Given the description of an element on the screen output the (x, y) to click on. 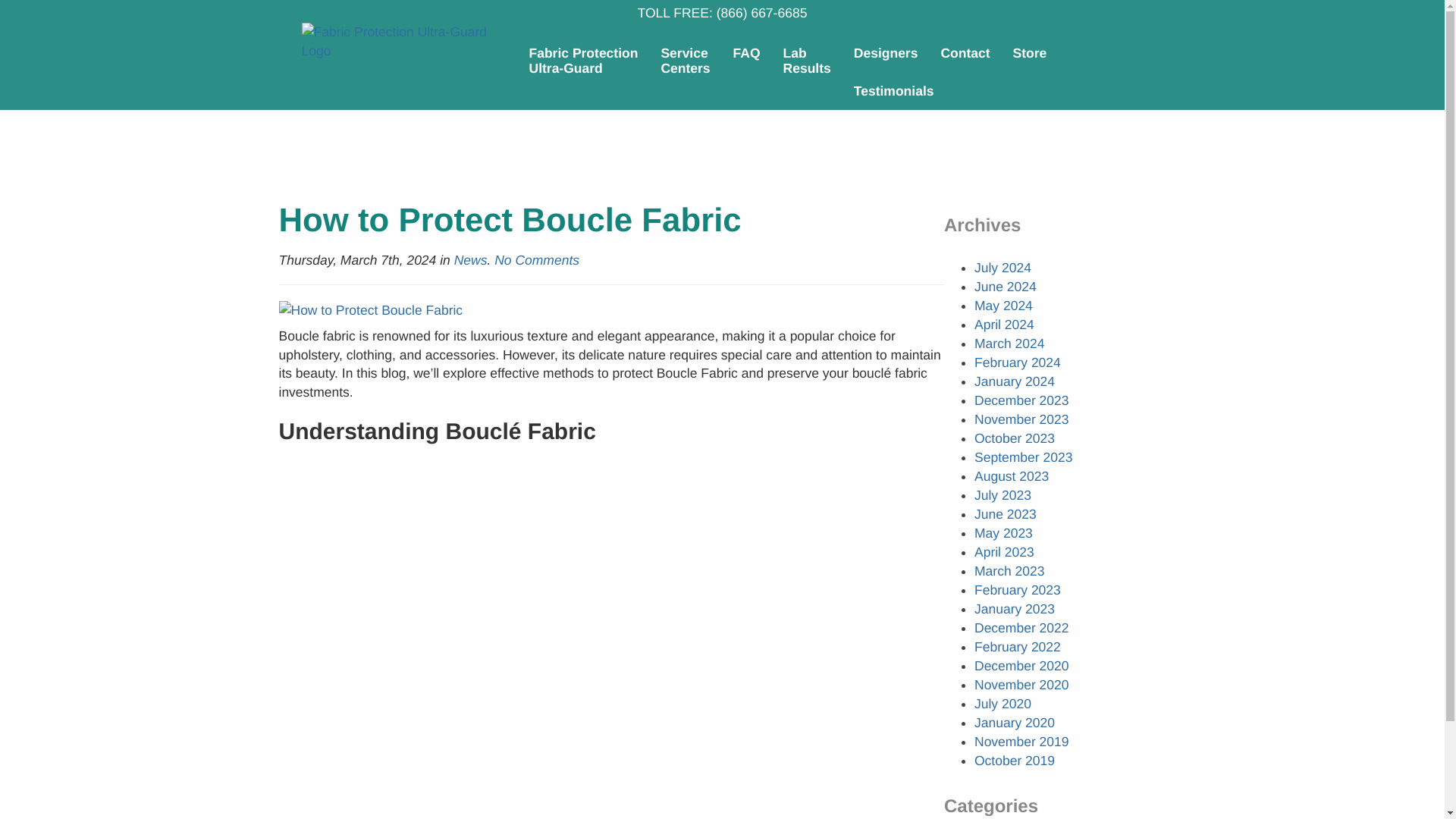
Designers (886, 53)
January 2024 (1014, 381)
March 2024 (1008, 343)
Testimonials (893, 90)
December 2023 (1021, 400)
September 2023 (1022, 457)
Contact (964, 53)
May 2023 (1003, 532)
FAQ (746, 53)
October 2023 (1014, 437)
Fabric Protection Ultra-Guard (398, 50)
July 2023 (1002, 494)
May 2024 (1003, 305)
June 2023 (1005, 513)
